Given the description of an element on the screen output the (x, y) to click on. 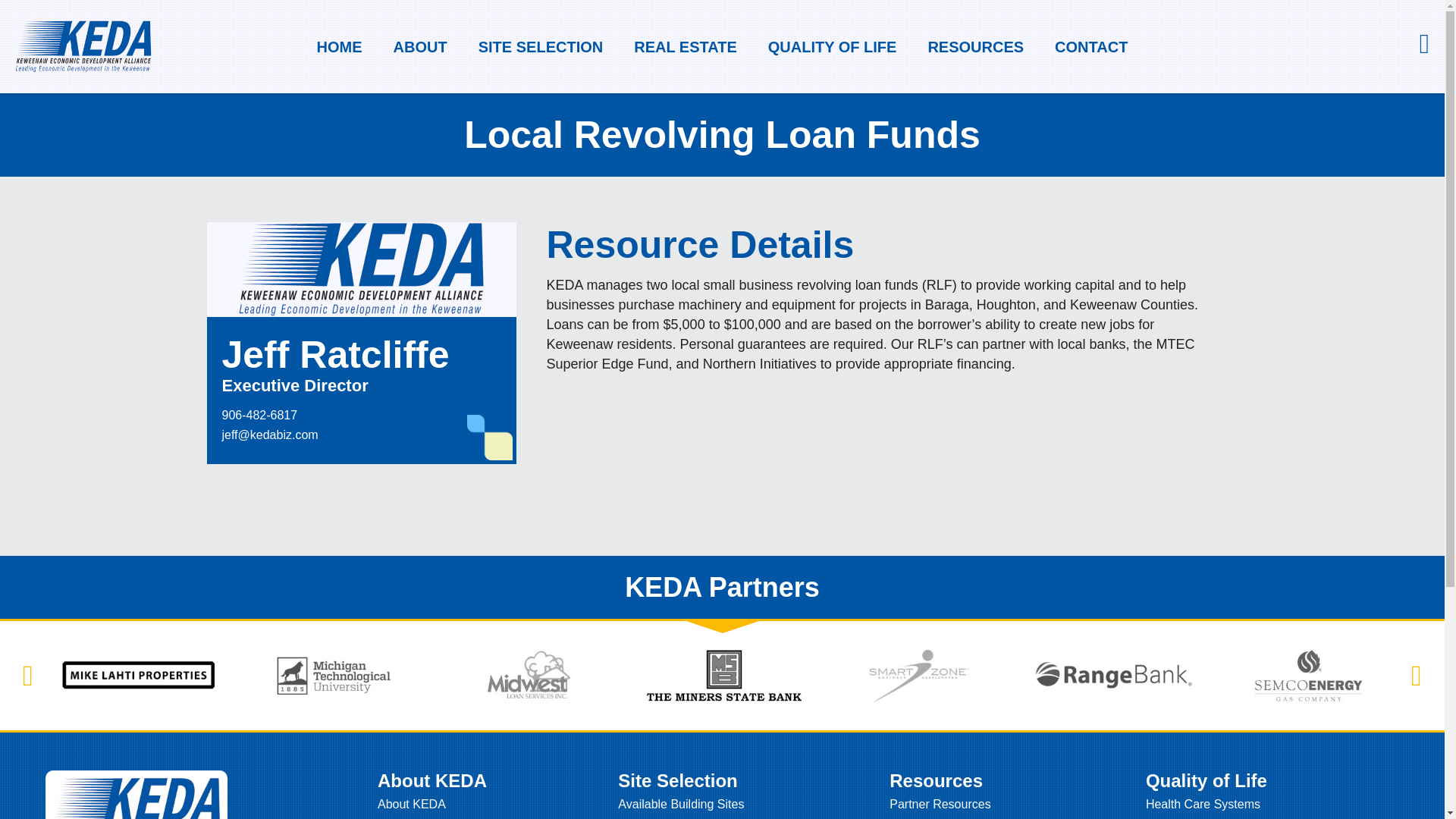
keda-logo-header (82, 46)
HOME (339, 46)
keda-logo-header (361, 268)
SITE SELECTION (540, 46)
QUALITY OF LIFE (832, 46)
ABOUT (420, 46)
keda-logo-footer (135, 798)
REAL ESTATE (685, 46)
RESOURCES (975, 46)
